Given the description of an element on the screen output the (x, y) to click on. 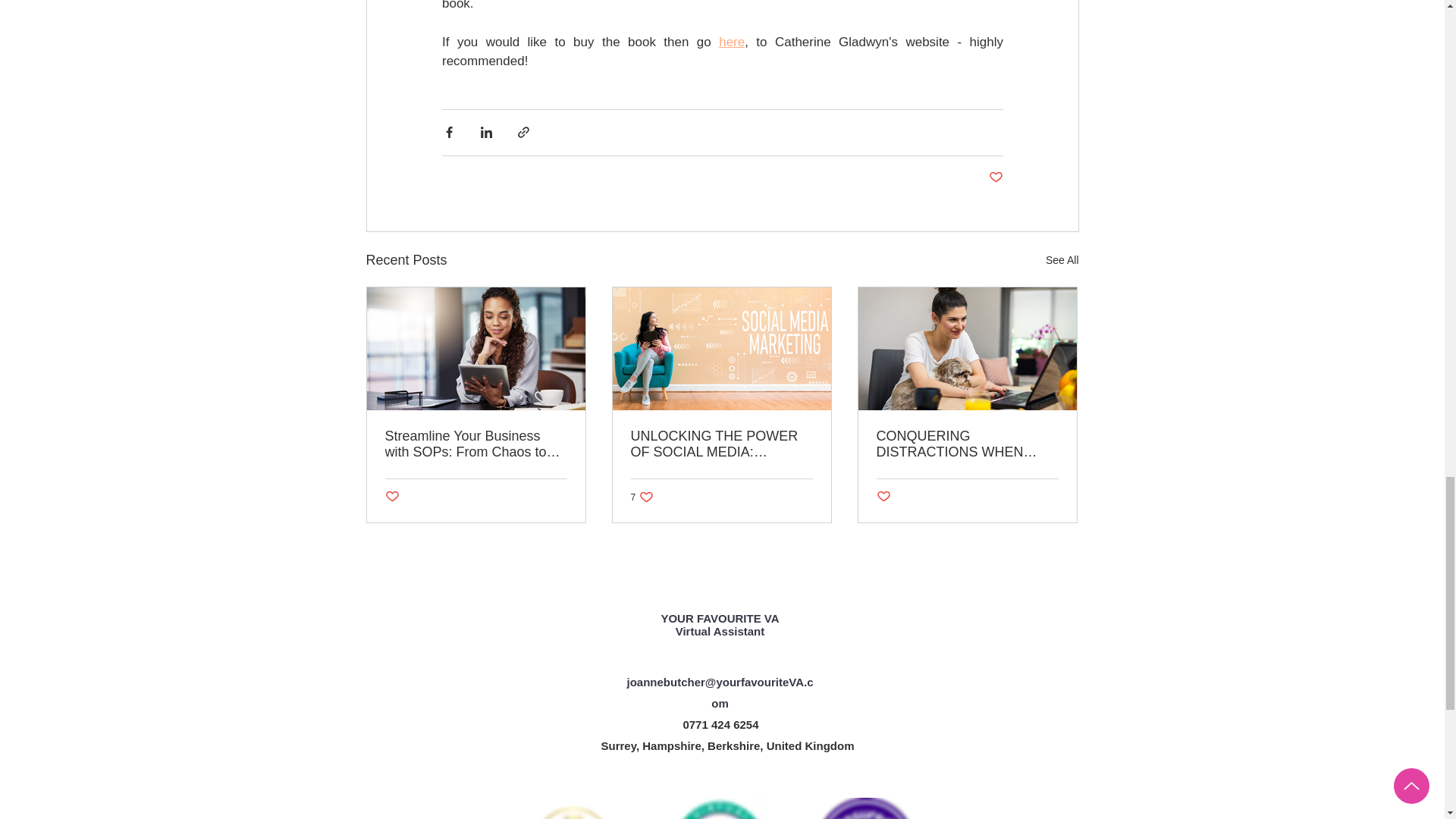
UNLOCKING THE POWER OF SOCIAL MEDIA: STRATEGIES FOR SUCCESS (721, 444)
See All (1061, 260)
Streamline Your Business with SOPs: From Chaos to Clarity (476, 444)
here (641, 496)
Post not marked as liked (731, 42)
Post not marked as liked (883, 496)
Post not marked as liked (391, 496)
YOUR FAVOURITE VA (995, 177)
